Given the description of an element on the screen output the (x, y) to click on. 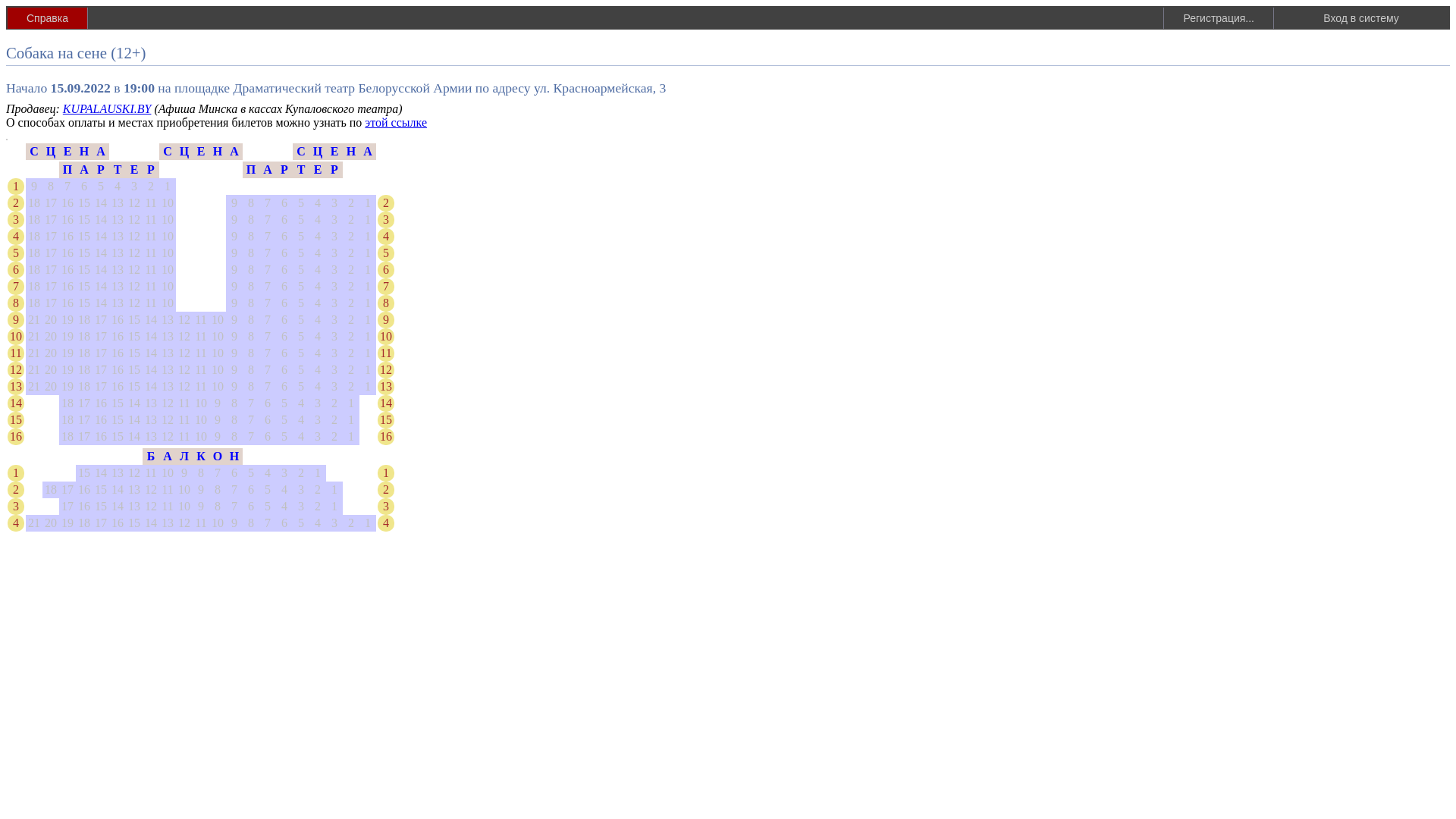
KUPALAUSKI.BY Element type: text (106, 108)
